Given the description of an element on the screen output the (x, y) to click on. 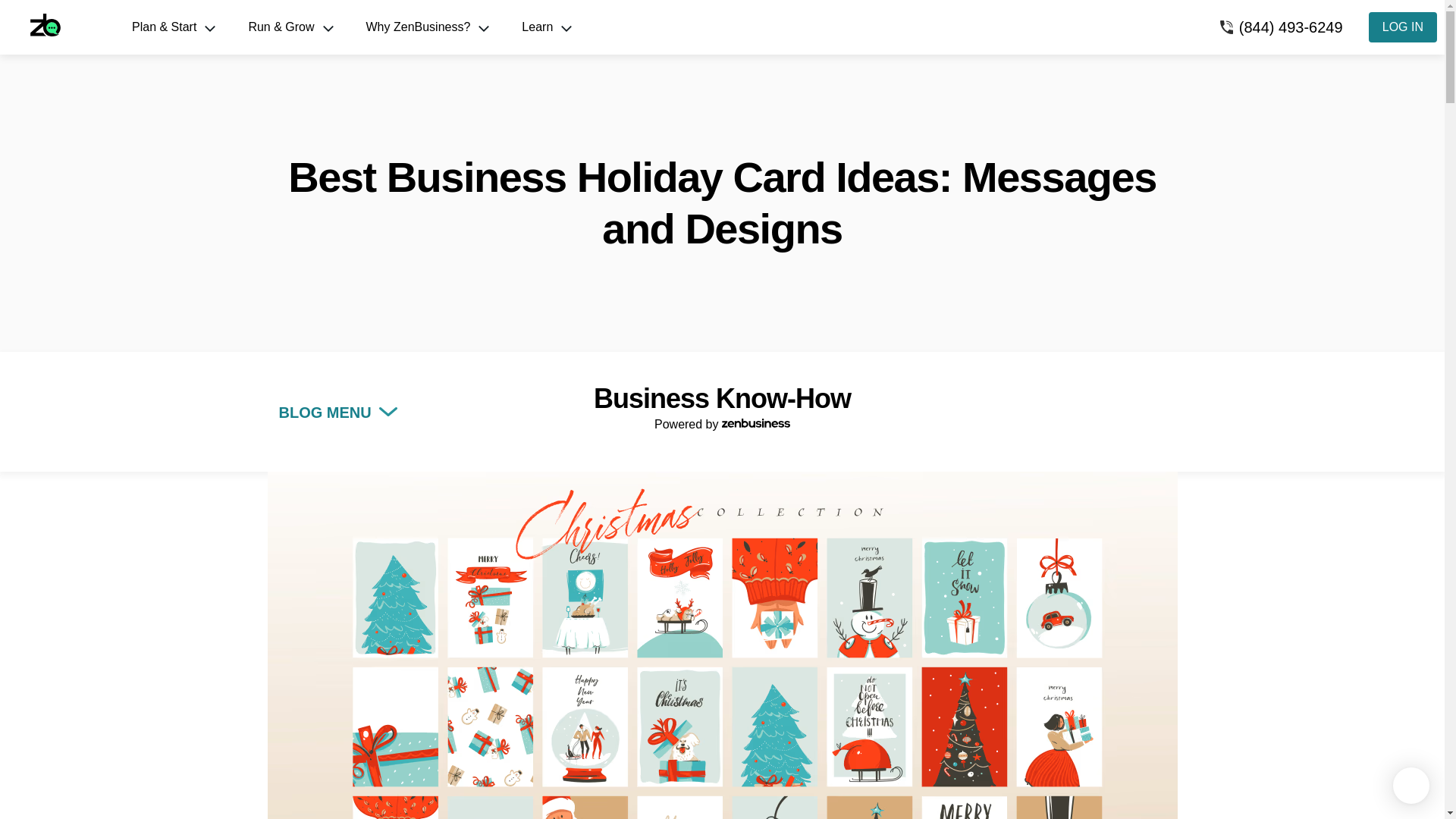
ZenBusiness Inc. (57, 27)
